Given the description of an element on the screen output the (x, y) to click on. 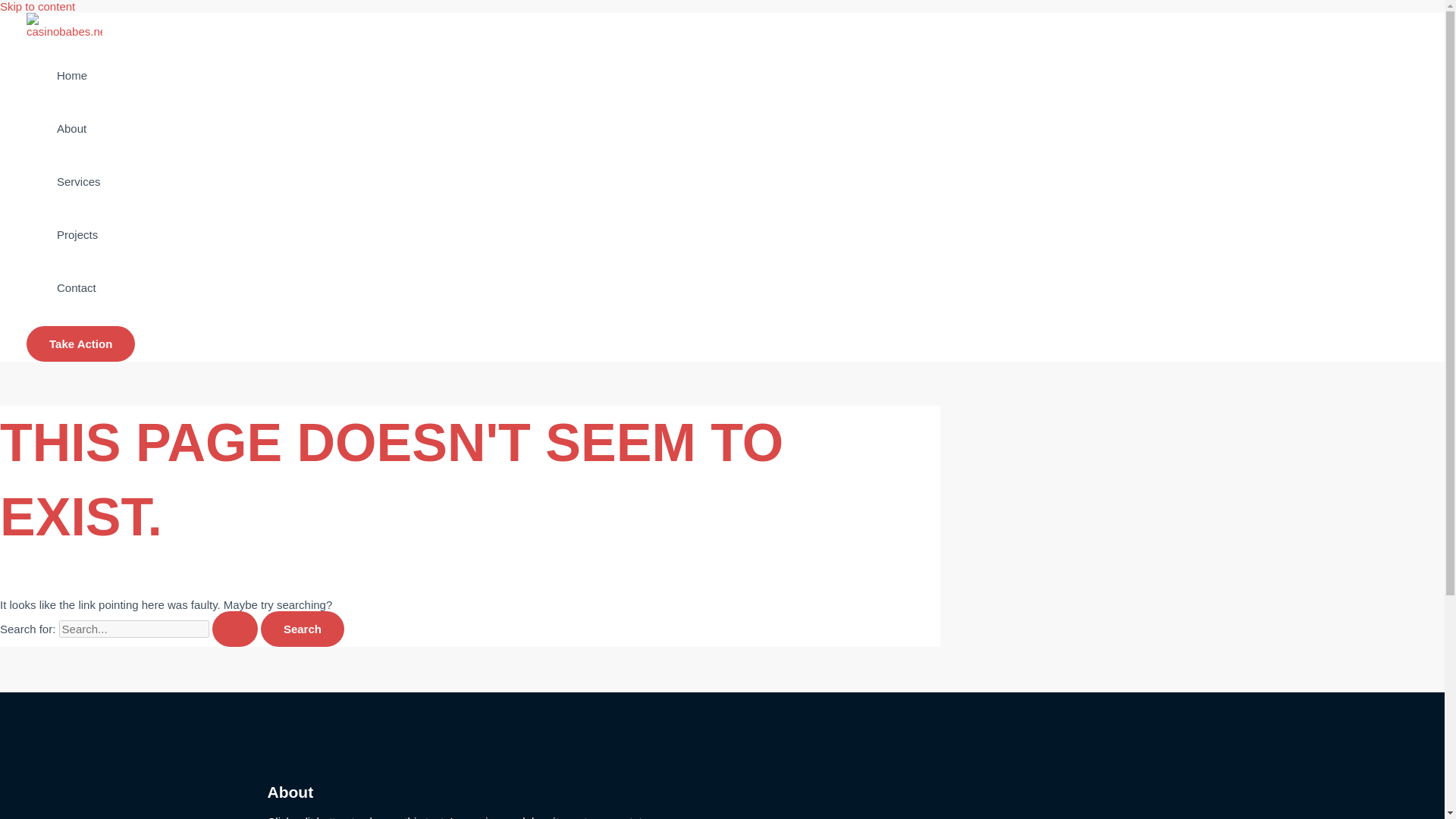
Search (301, 628)
Search (301, 628)
Take Action (80, 343)
Search (301, 628)
Skip to content (37, 6)
Skip to content (37, 6)
